Given the description of an element on the screen output the (x, y) to click on. 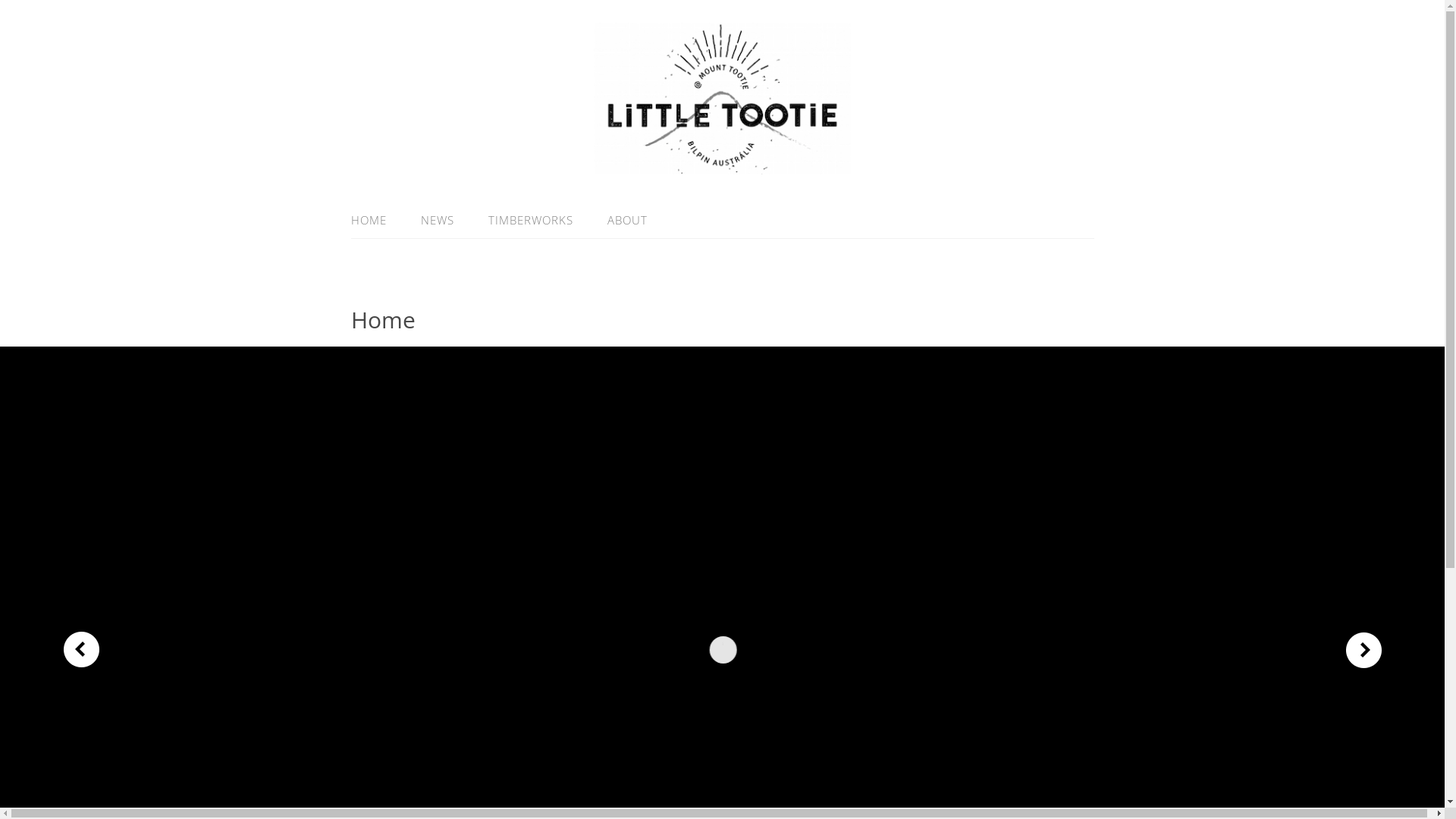
NEWS Element type: text (436, 219)
Little Tootie Element type: hover (722, 165)
HOME Element type: text (375, 219)
TIMBERWORKS Element type: text (530, 219)
ABOUT Element type: text (618, 219)
